Given the description of an element on the screen output the (x, y) to click on. 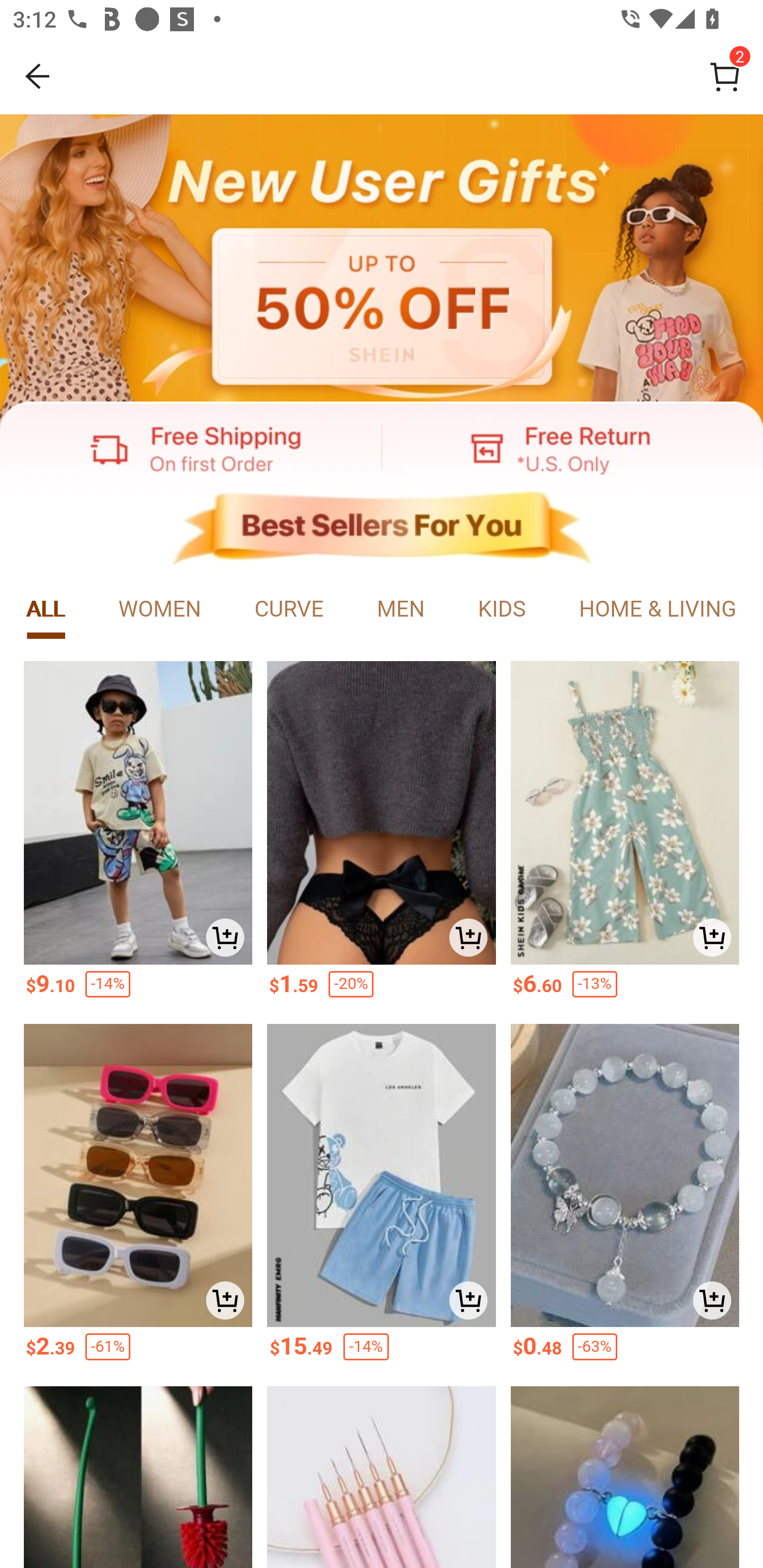
BACK (38, 75)
Cart 2 (724, 75)
javascript:; (381, 258)
javascript:; (190, 446)
javascript:; (572, 446)
javascript:; (381, 528)
tab item (46, 609)
tab item (159, 609)
tab item (288, 609)
tab item (400, 609)
tab item (501, 609)
tab item (657, 609)
Floral Lace Bow Back Panty Lingerie (381, 812)
$9.10 -14% (137, 989)
$1.59 -20% (381, 989)
$6.60 -13% (625, 989)
$2.39 -61% (137, 1352)
$15.49 -14% (381, 1352)
$0.48 -63% (625, 1352)
